Given the description of an element on the screen output the (x, y) to click on. 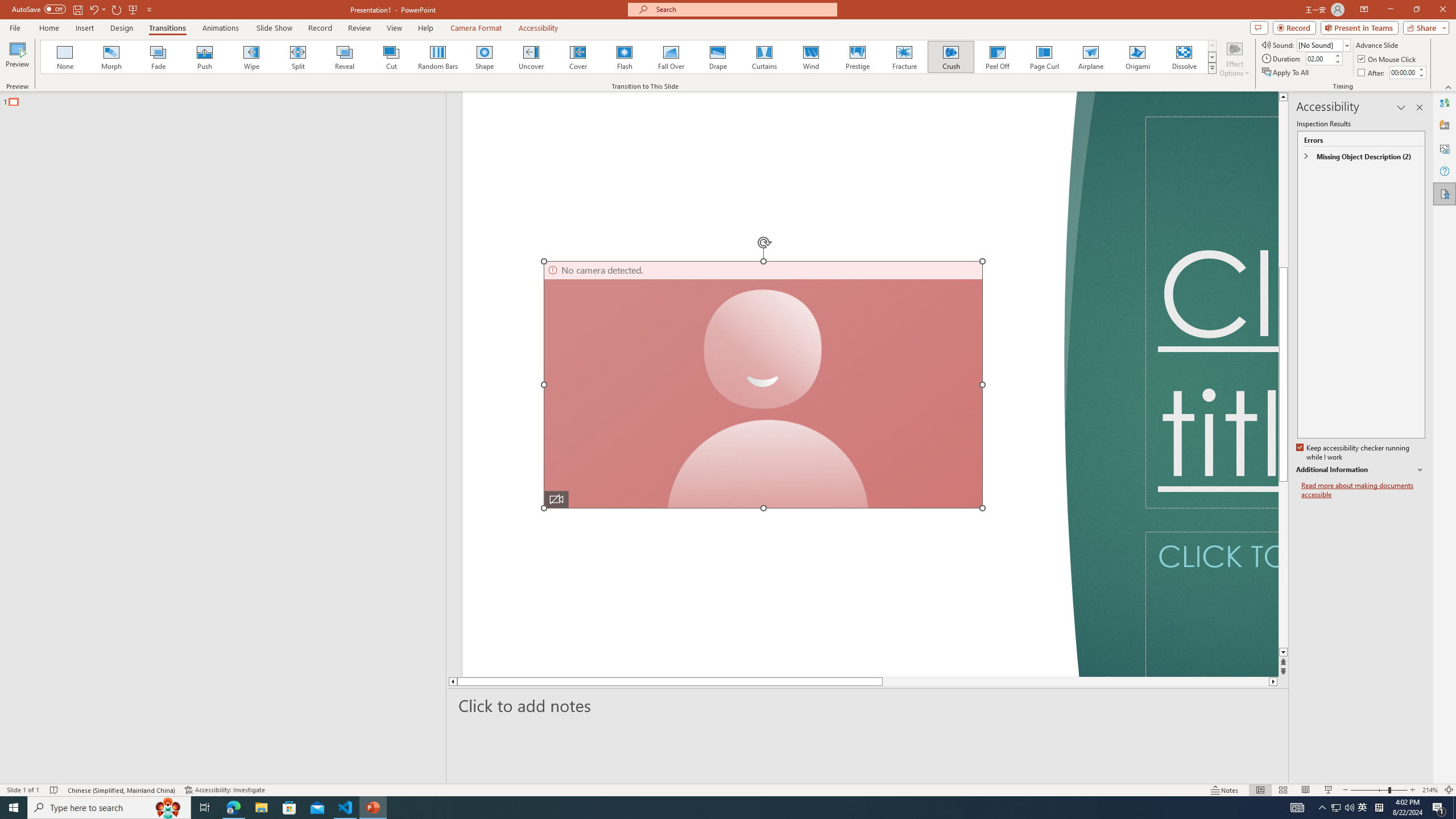
Apply To All (1286, 72)
Reveal (344, 56)
Fall Over (670, 56)
Wipe (251, 56)
Crush (950, 56)
